Given the description of an element on the screen output the (x, y) to click on. 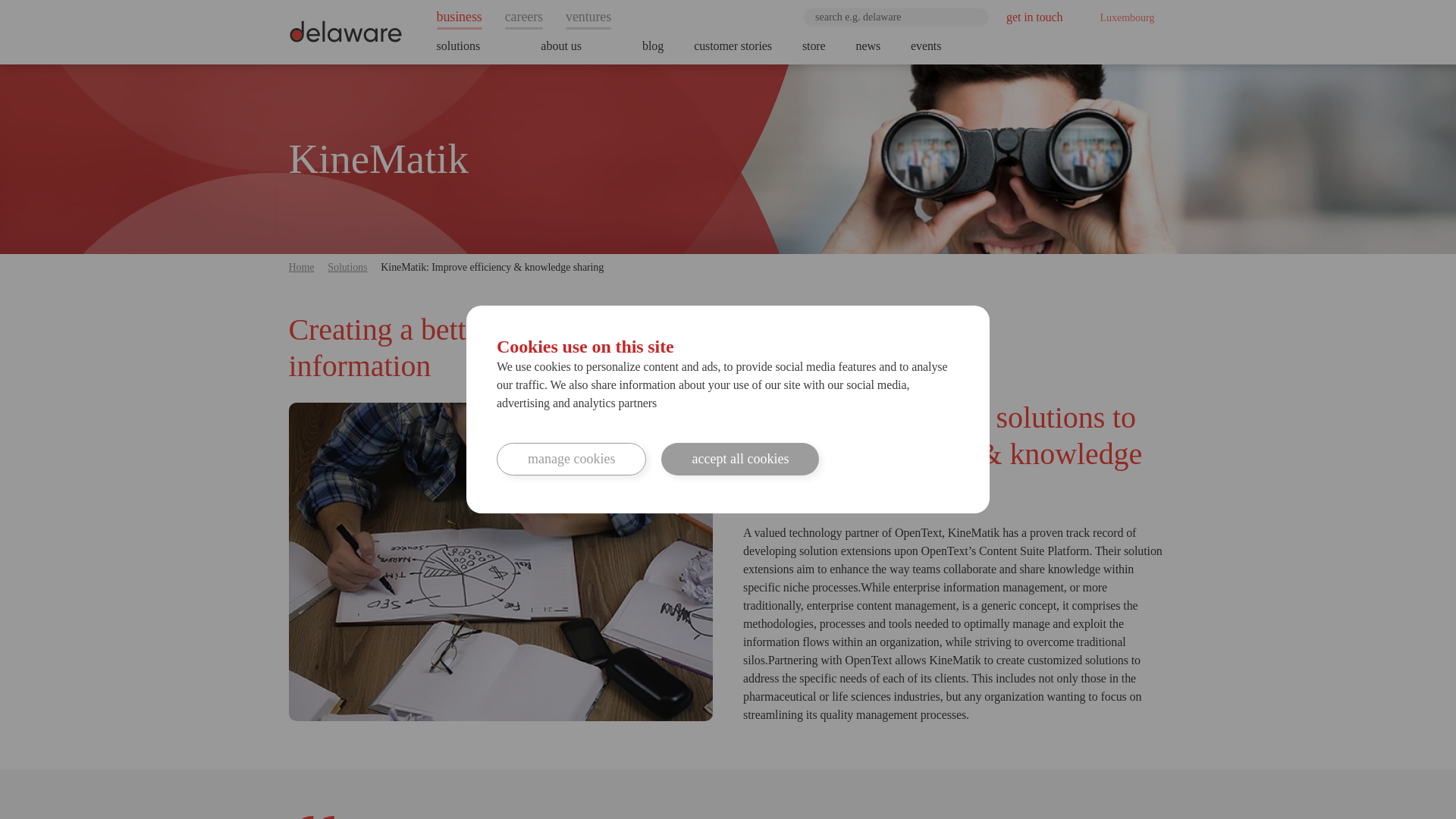
Luxembourg (1122, 17)
get in touch (1034, 16)
